Given the description of an element on the screen output the (x, y) to click on. 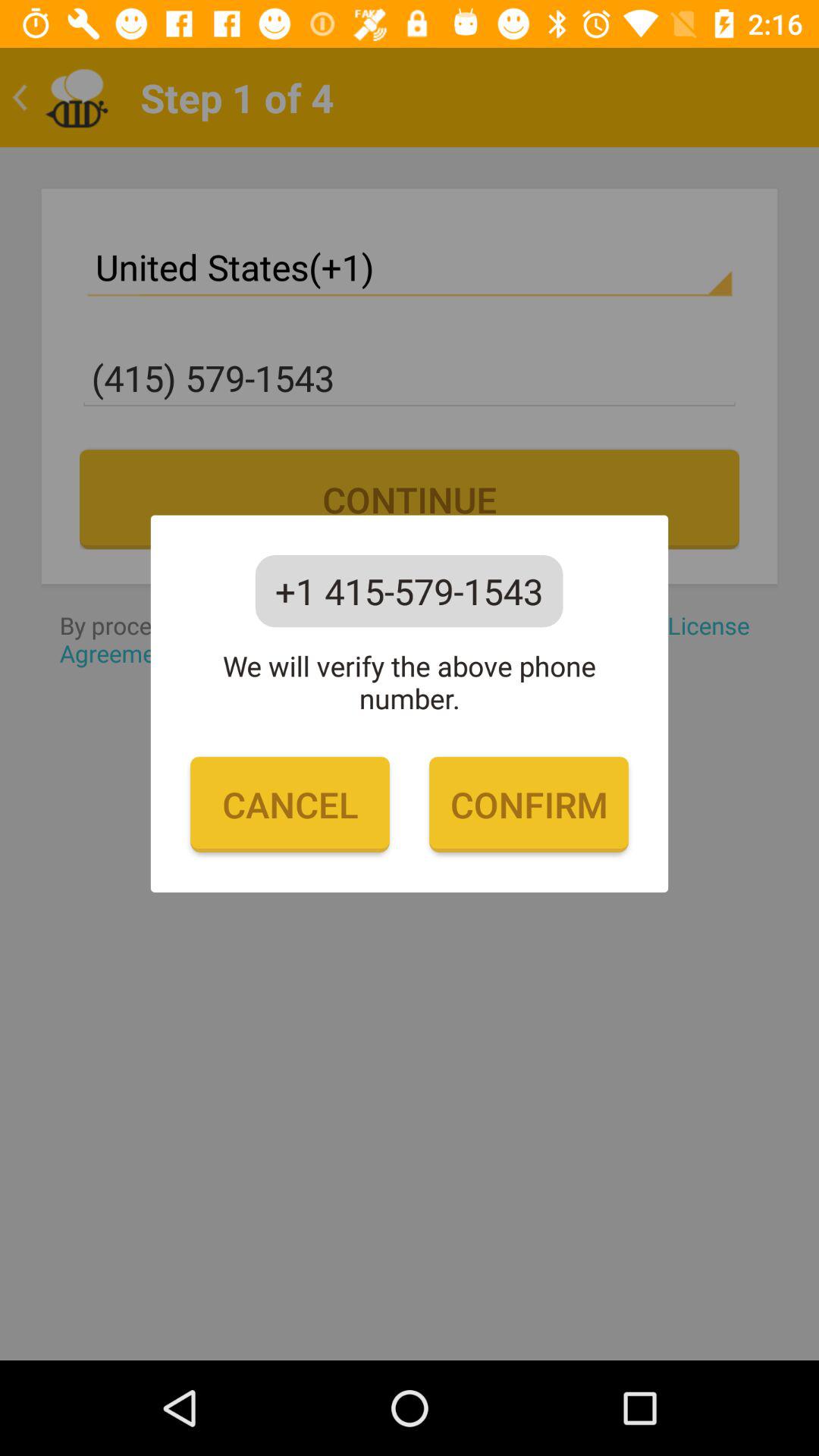
turn on the item next to the cancel icon (528, 804)
